Given the description of an element on the screen output the (x, y) to click on. 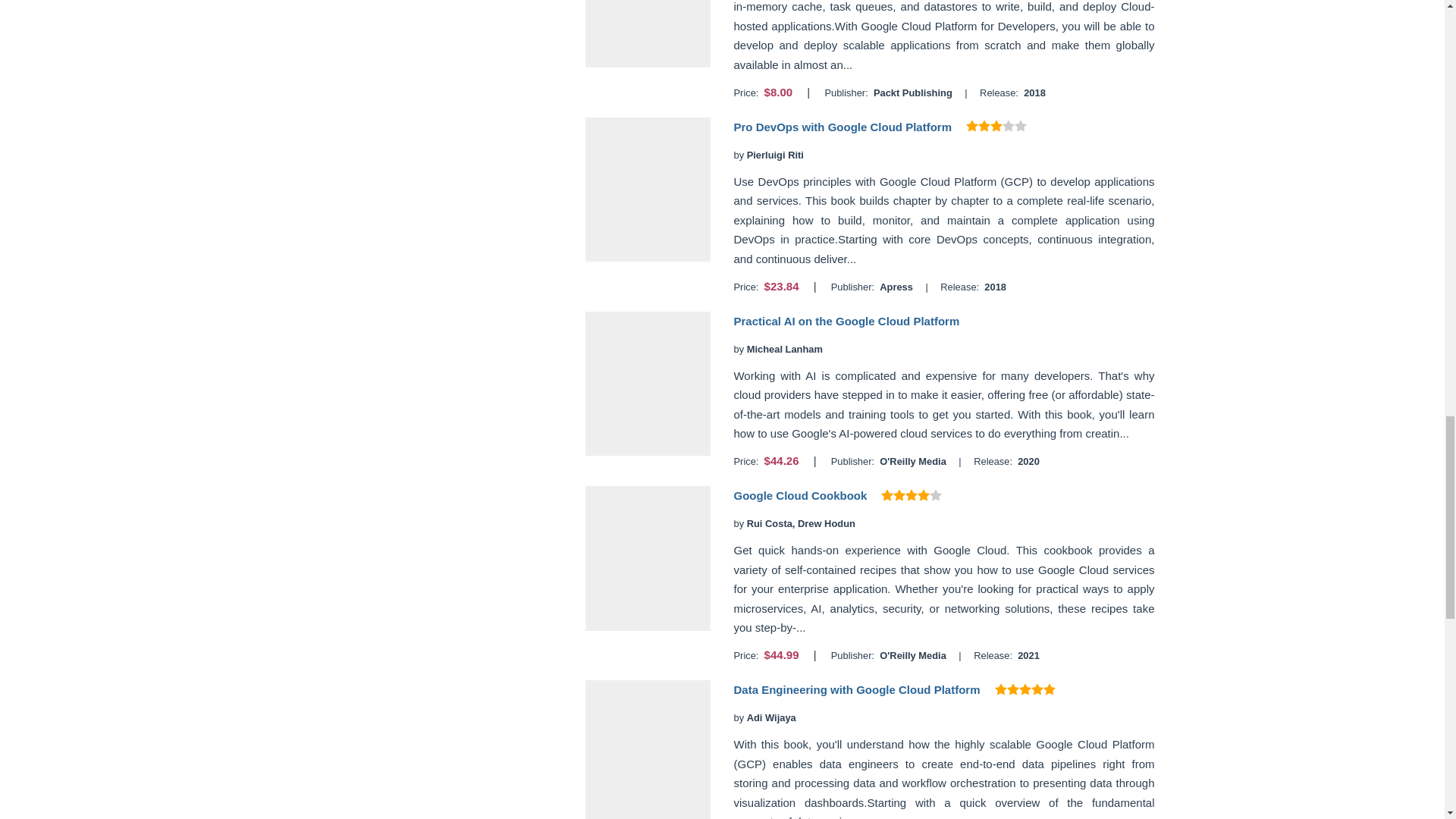
Data Engineering with Google Cloud Platform (856, 689)
Practical AI on the Google Cloud Platform (846, 320)
Google Cloud Cookbook (799, 495)
Pro DevOps with Google Cloud Platform (842, 126)
